Given the description of an element on the screen output the (x, y) to click on. 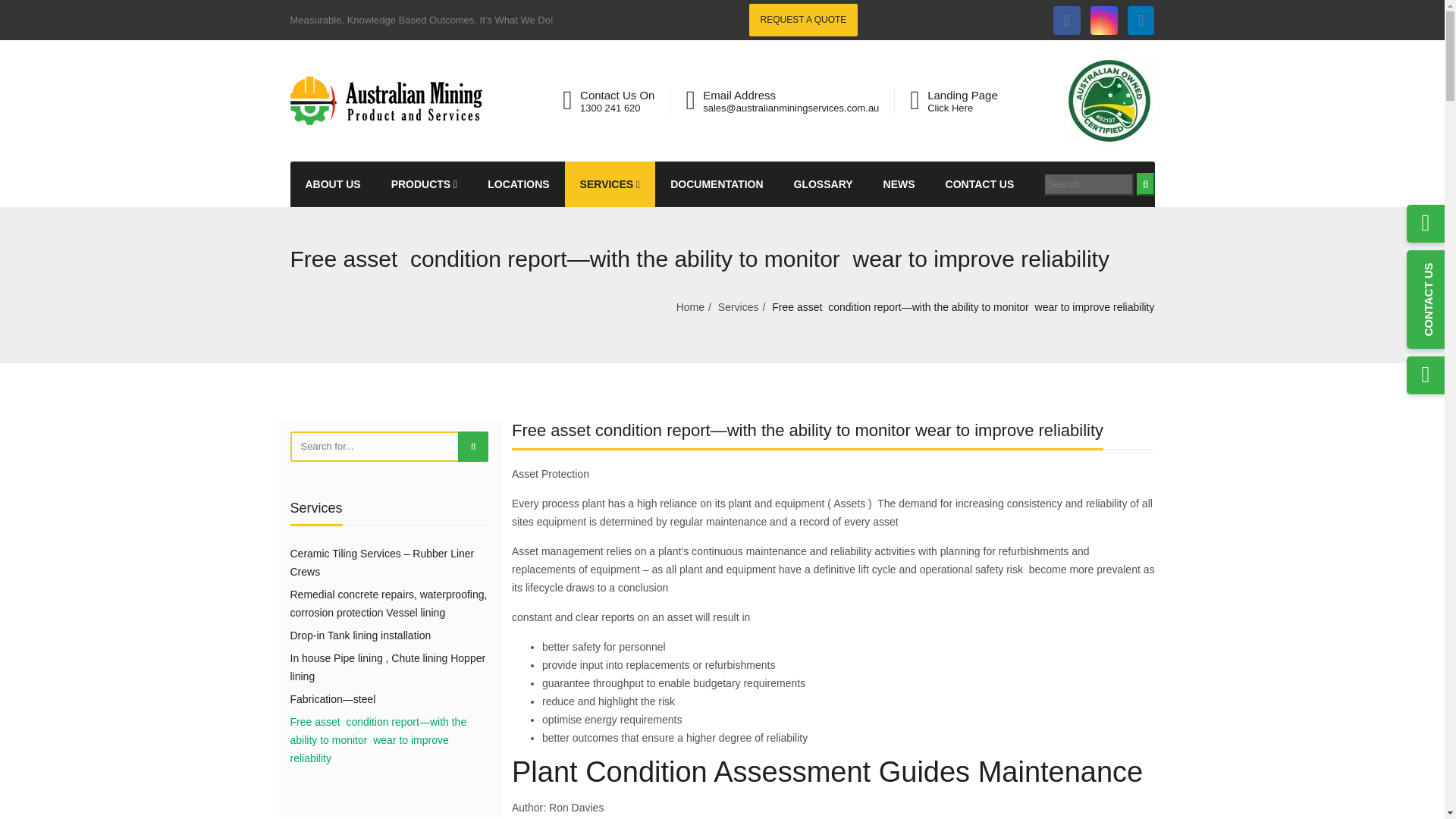
Click Here (949, 108)
1300 241 620 (609, 108)
PRODUCTS (424, 184)
About Us (332, 184)
Products (424, 184)
ABOUT US (332, 184)
REQUEST A QUOTE (804, 20)
